Given the description of an element on the screen output the (x, y) to click on. 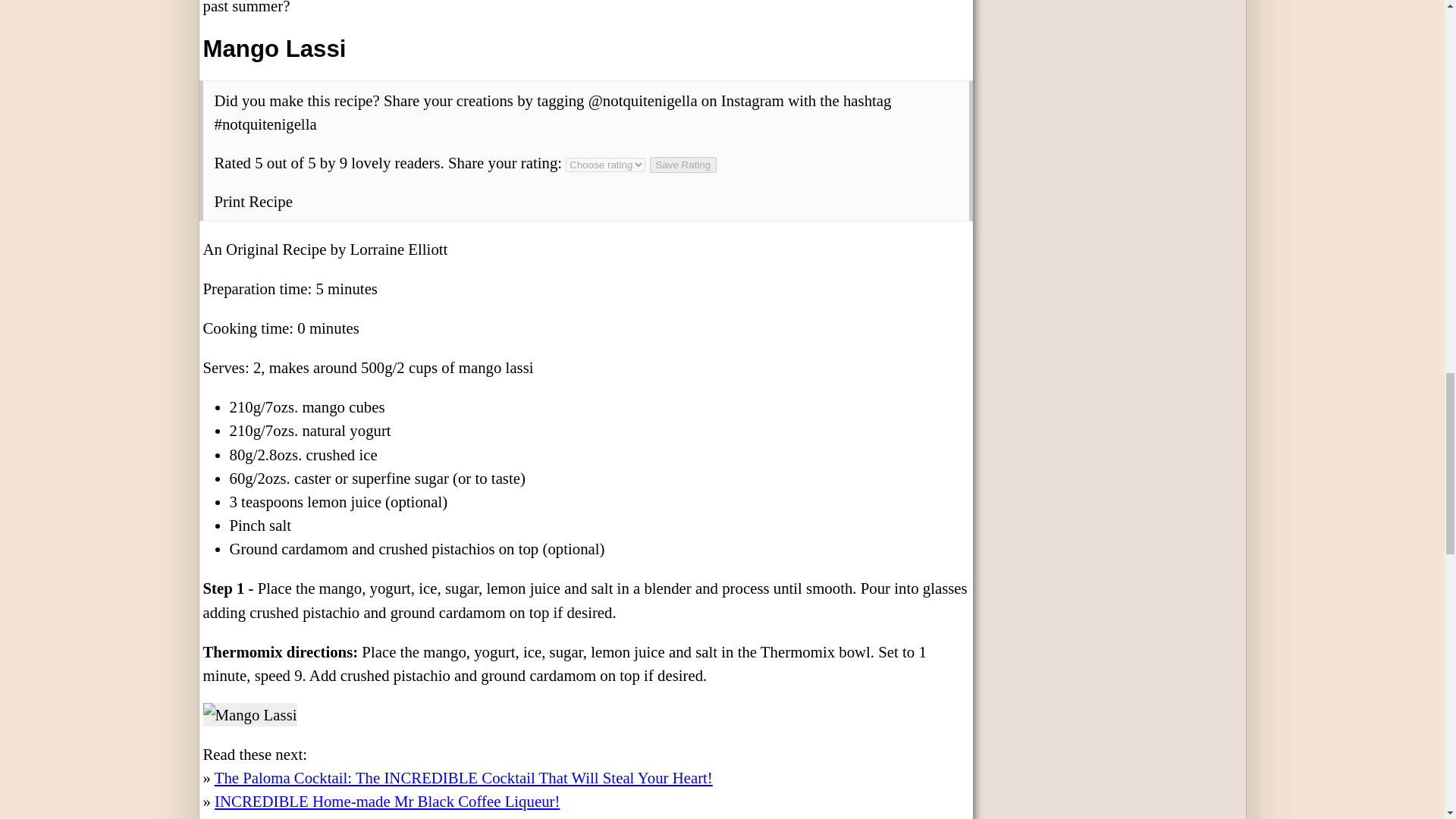
Save Rating (683, 164)
Print Recipe (253, 200)
INCREDIBLE Home-made Mr Black Coffee Liqueur! (386, 800)
